Given the description of an element on the screen output the (x, y) to click on. 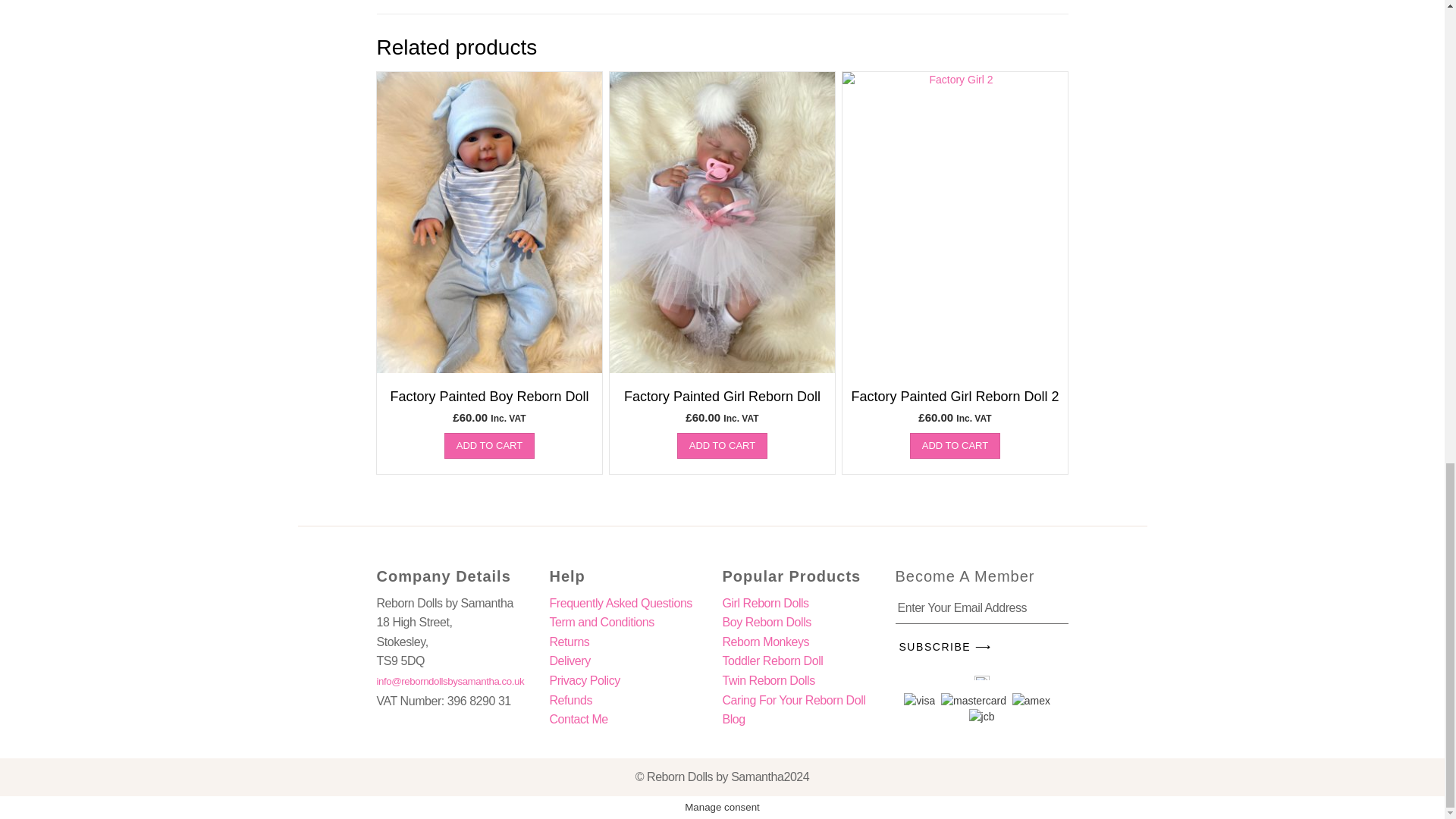
Privacy Policy (584, 680)
ADD TO CART (955, 445)
Returns (568, 641)
Term and Conditions (600, 621)
Contact Me (577, 718)
Delivery (568, 660)
ADD TO CART (489, 445)
Refunds (569, 699)
Frequently Asked Questions (619, 603)
ADD TO CART (722, 445)
